Given the description of an element on the screen output the (x, y) to click on. 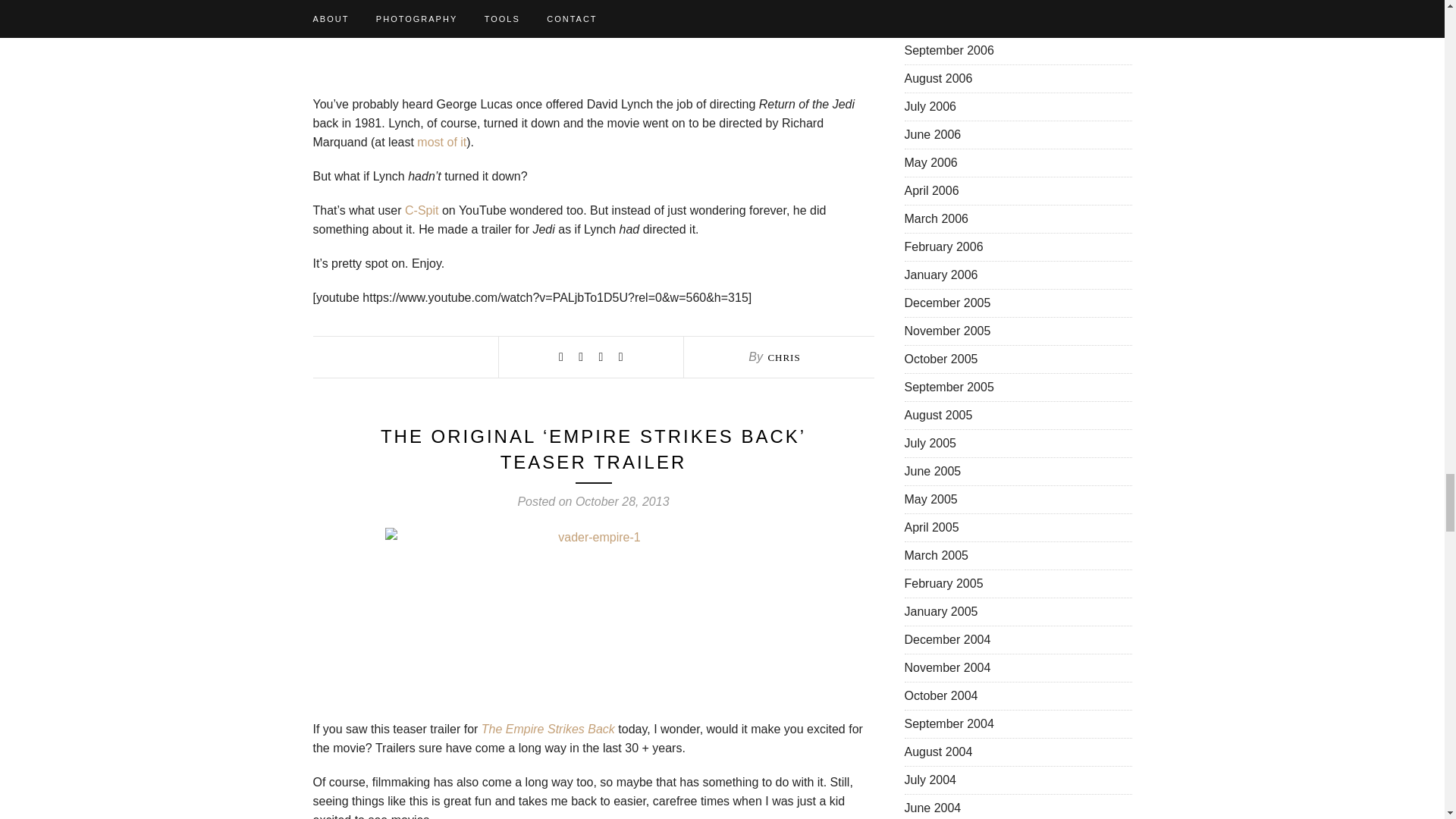
Posts by Chris (783, 357)
